Given the description of an element on the screen output the (x, y) to click on. 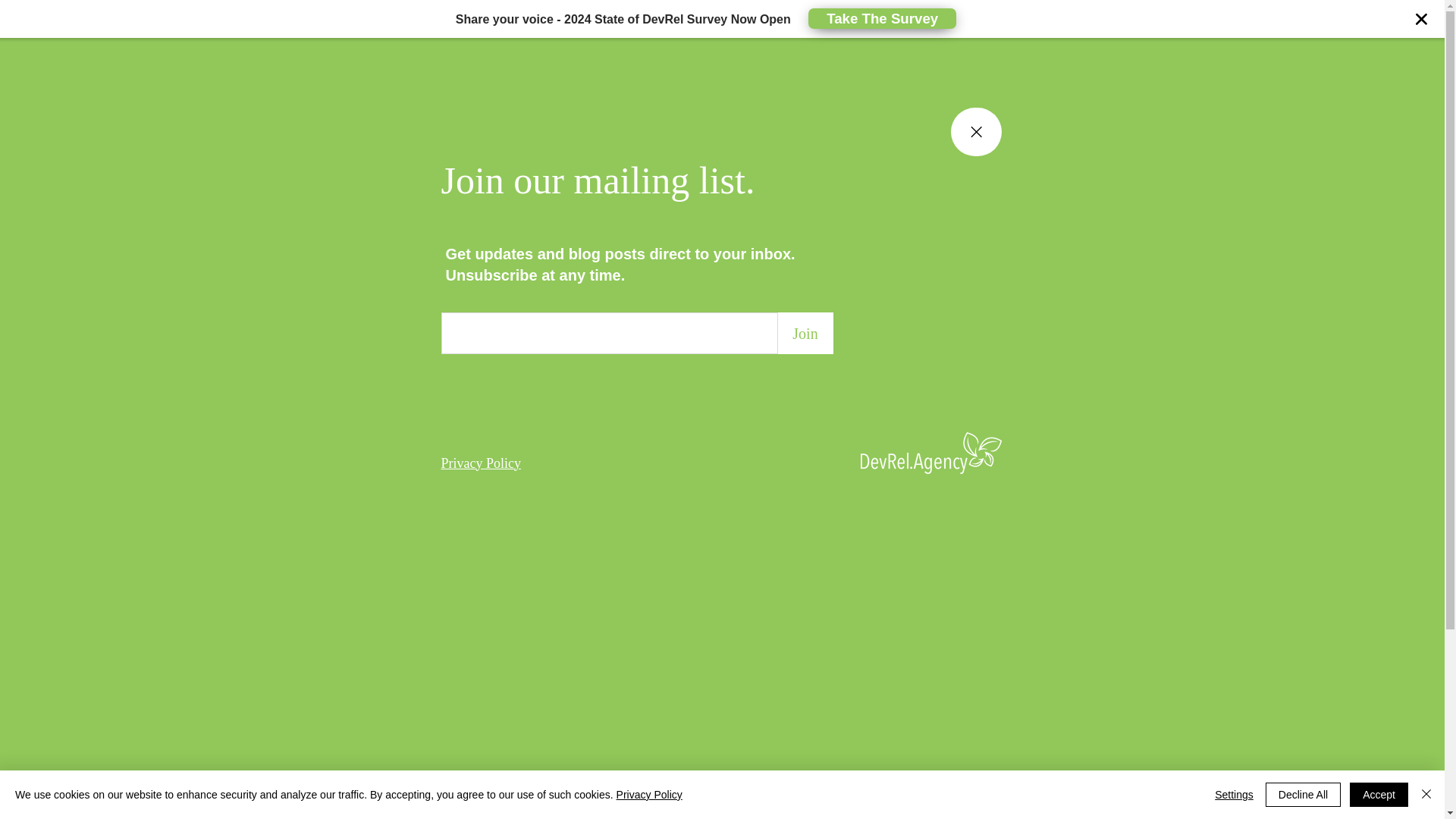
Join (804, 332)
Privacy Policy (481, 462)
